Given the description of an element on the screen output the (x, y) to click on. 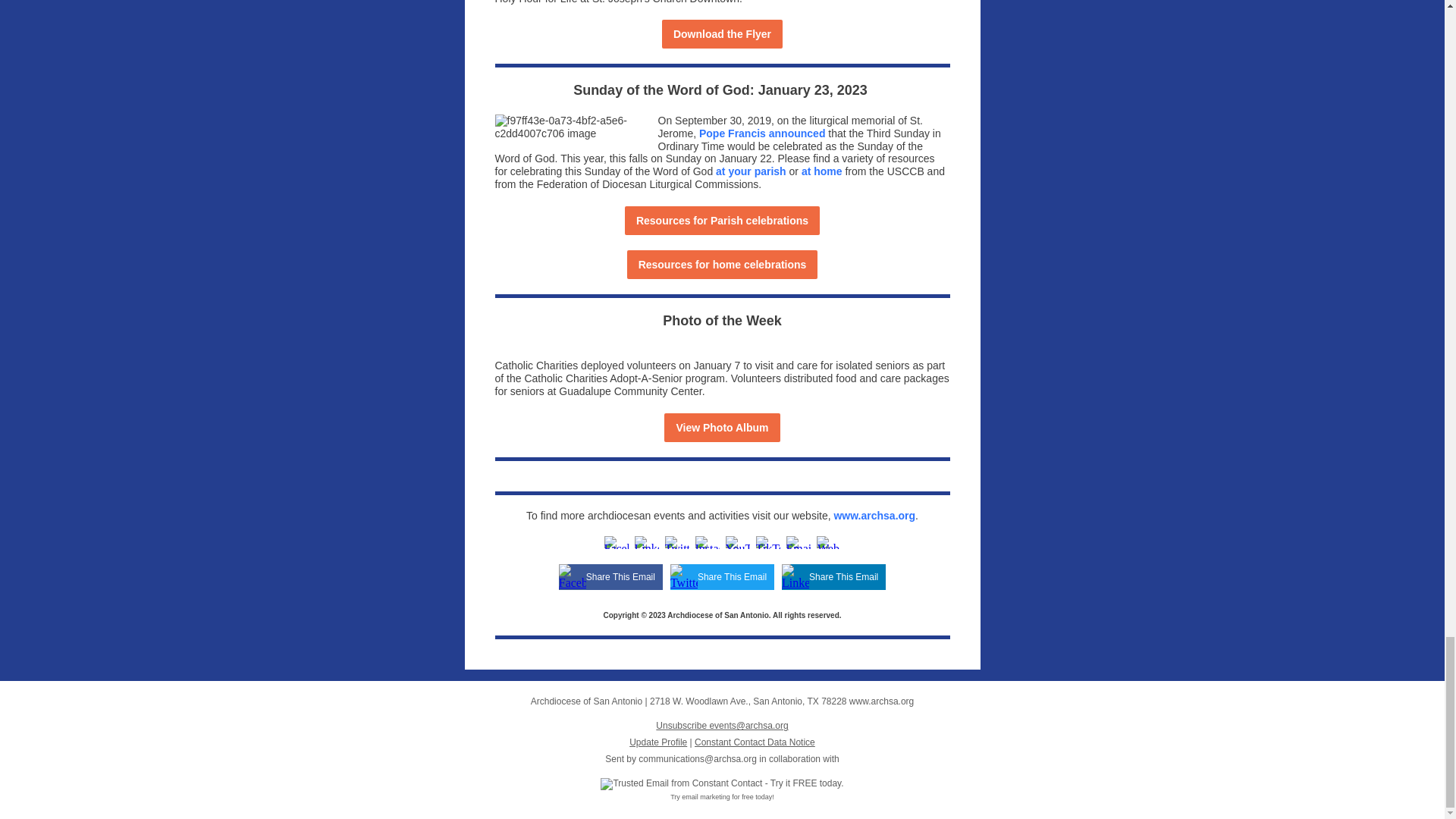
at home (822, 171)
www.archsa.org (873, 515)
at your parish (751, 171)
Share This Email (843, 576)
Update Profile (657, 742)
Try email marketing for free today! (721, 796)
Share This Email (732, 576)
Constant Contact Data Notice (754, 742)
Resources for Parish celebrations (722, 220)
Share This Email (620, 576)
